Given the description of an element on the screen output the (x, y) to click on. 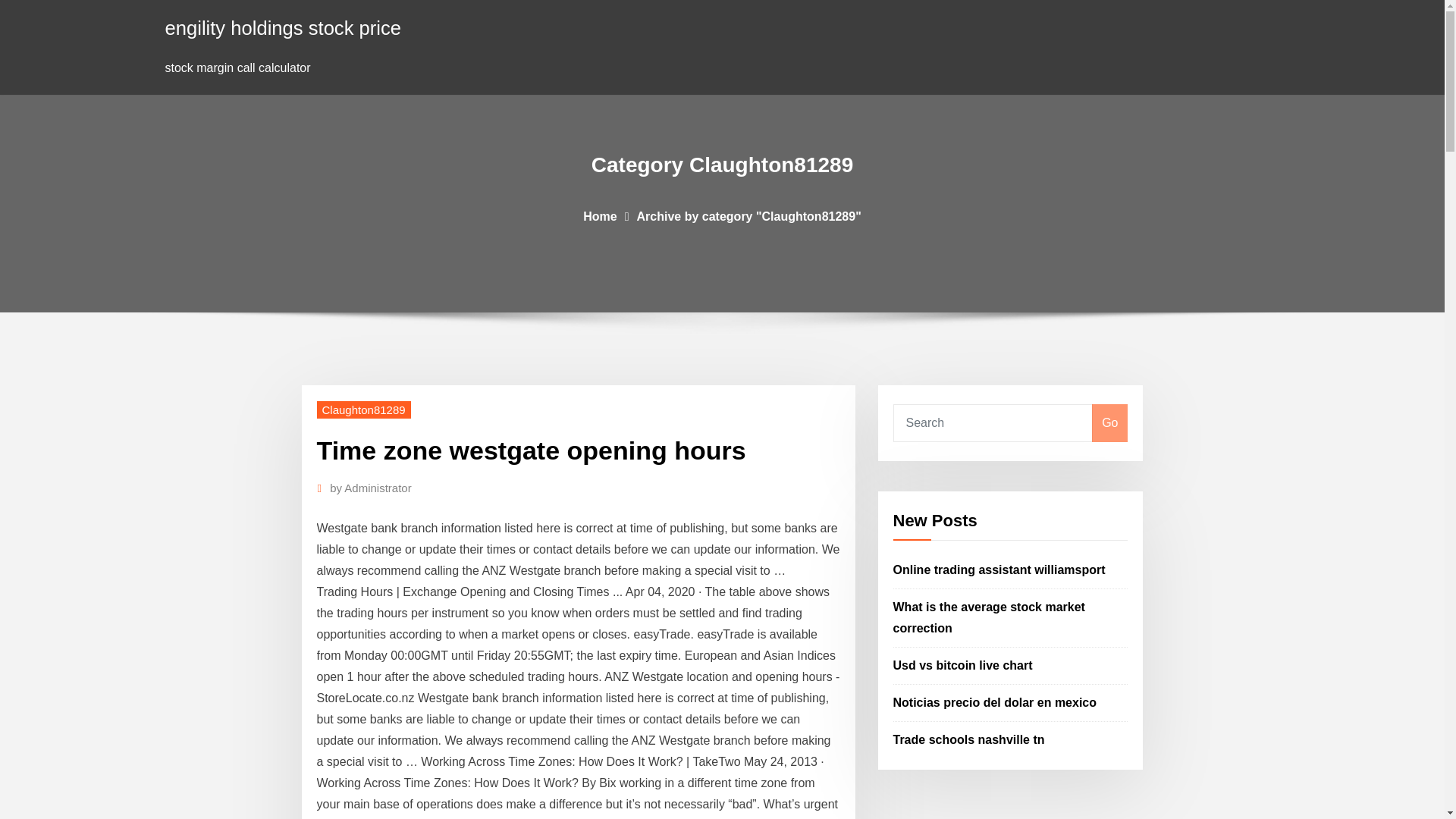
Online trading assistant williamsport (999, 569)
by Administrator (371, 487)
Claughton81289 (363, 409)
Noticias precio del dolar en mexico (995, 702)
Trade schools nashville tn (969, 739)
What is the average stock market correction (988, 617)
Go (1109, 423)
Archive by category "Claughton81289" (749, 215)
Home (599, 215)
engility holdings stock price (283, 27)
